Given the description of an element on the screen output the (x, y) to click on. 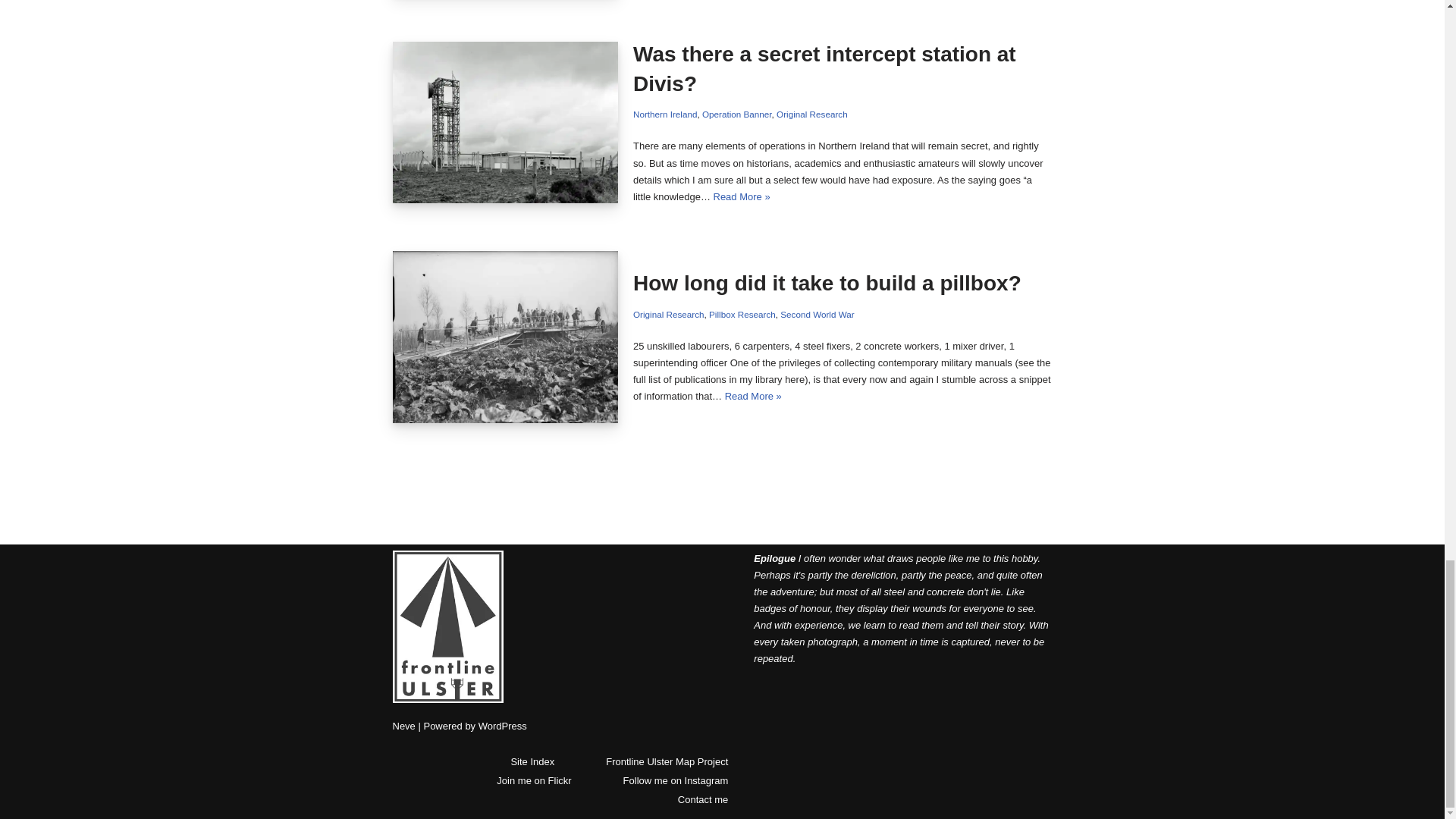
How long did it take to build a pillbox? (505, 336)
Was there a secret intercept station at Divis? (505, 122)
